Given the description of an element on the screen output the (x, y) to click on. 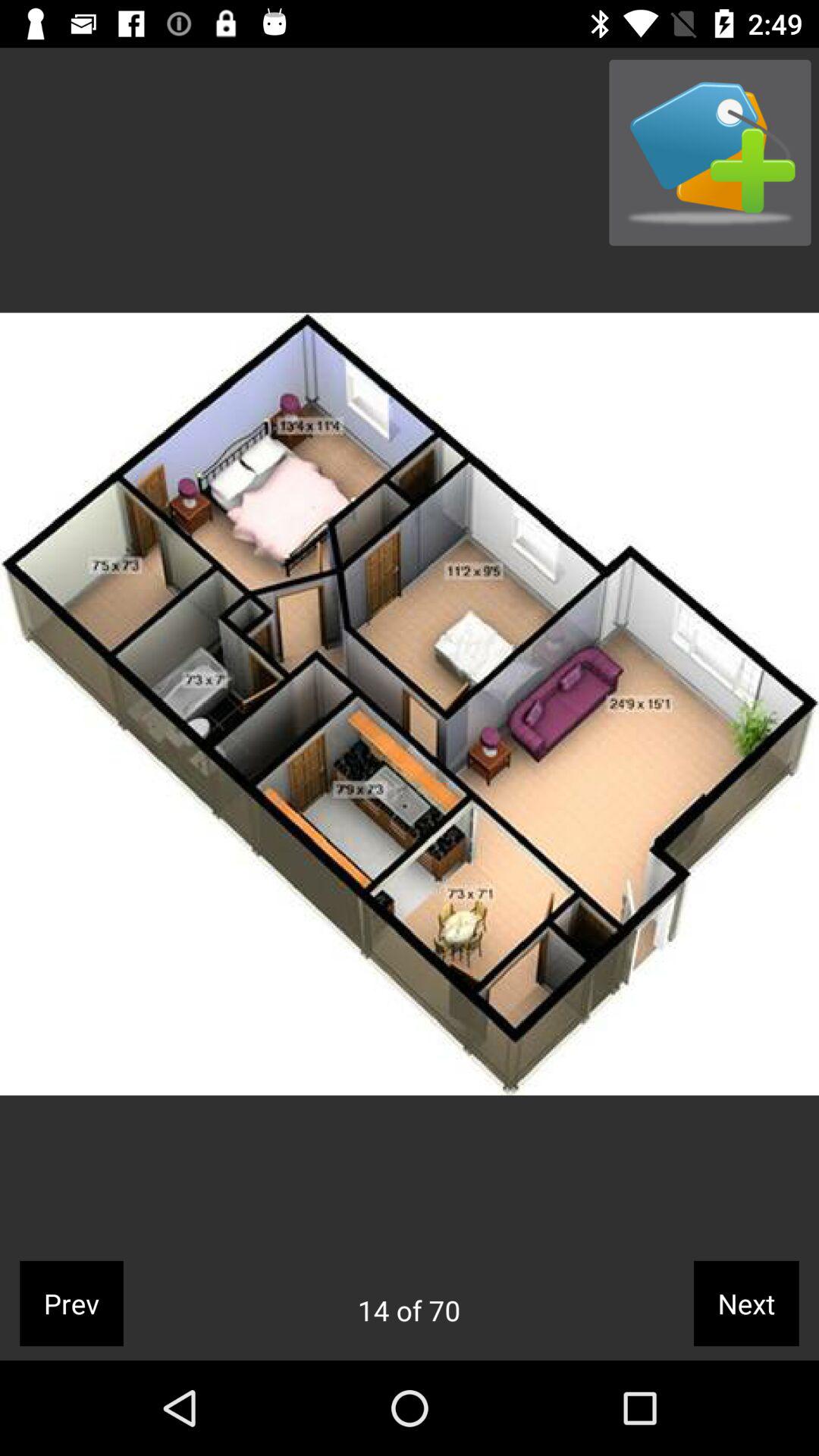
click the app to the right of prev app (408, 1310)
